Given the description of an element on the screen output the (x, y) to click on. 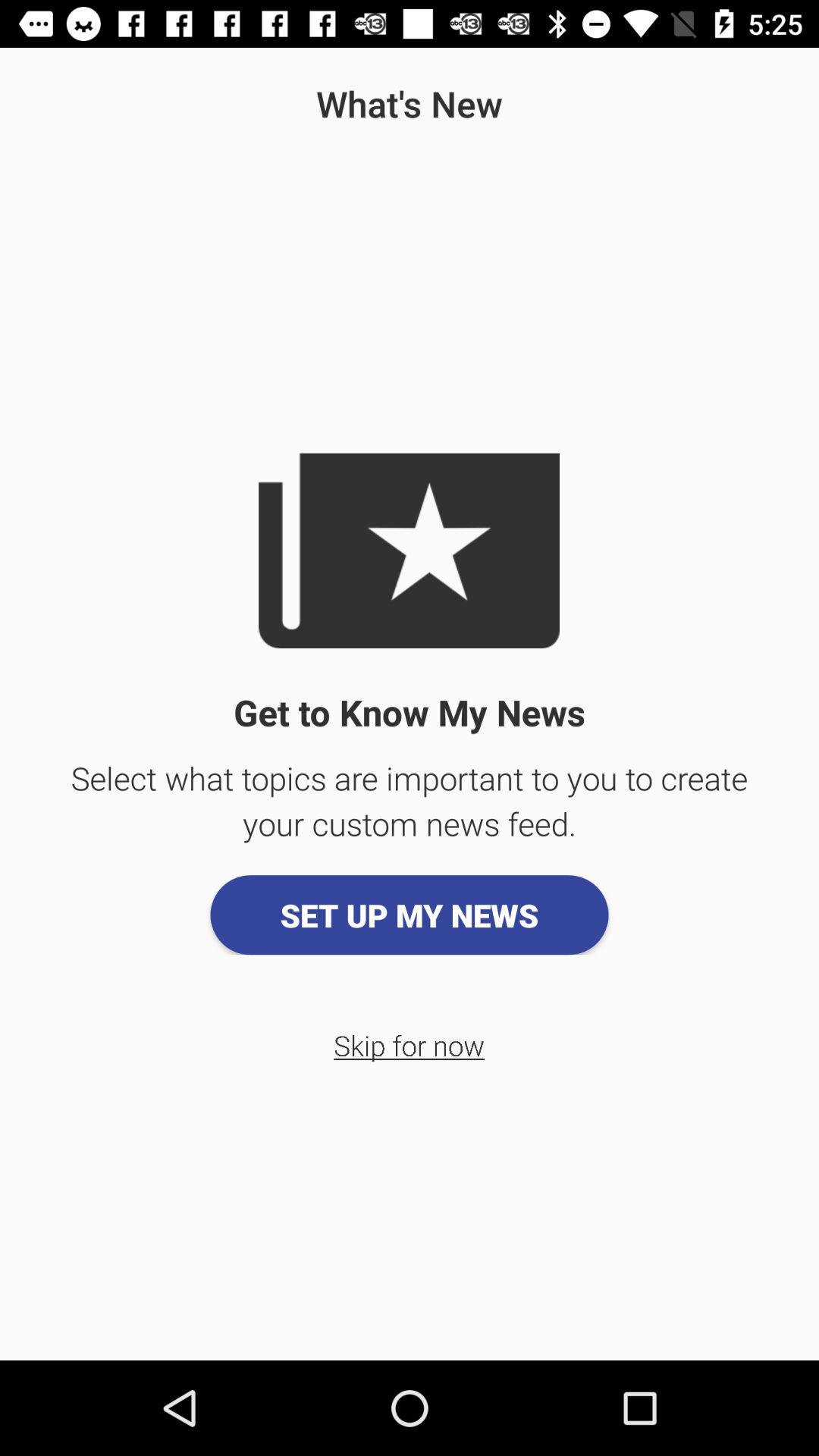
scroll to the set up my button (409, 914)
